Given the description of an element on the screen output the (x, y) to click on. 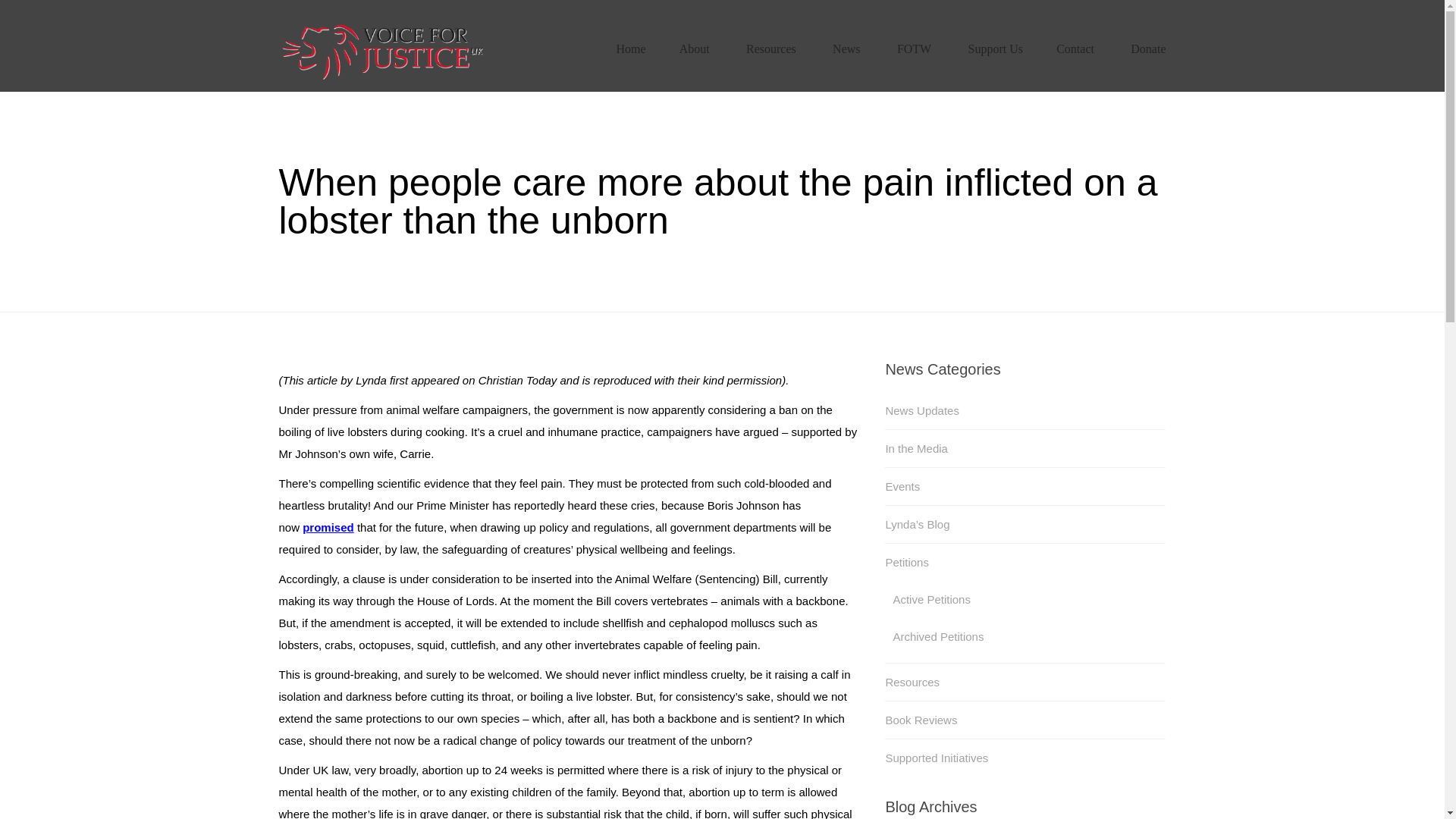
Resources (770, 48)
Donate (1148, 48)
News (846, 48)
Home (630, 48)
FOTW (913, 48)
Support Us (995, 48)
Contact (1075, 48)
About (694, 48)
